Given the description of an element on the screen output the (x, y) to click on. 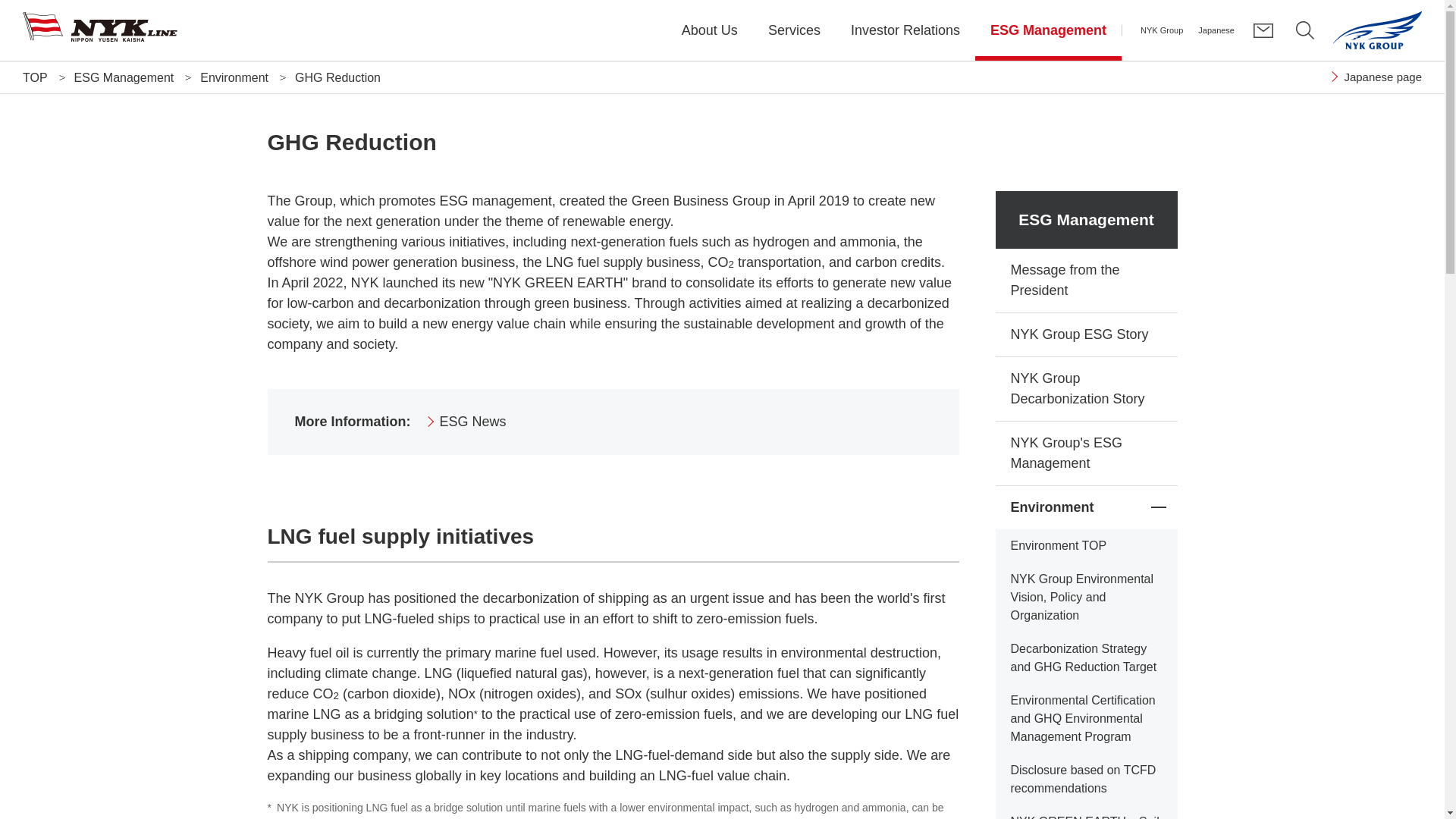
Services (793, 30)
Investor Relations (905, 30)
About Us (709, 30)
